Given the description of an element on the screen output the (x, y) to click on. 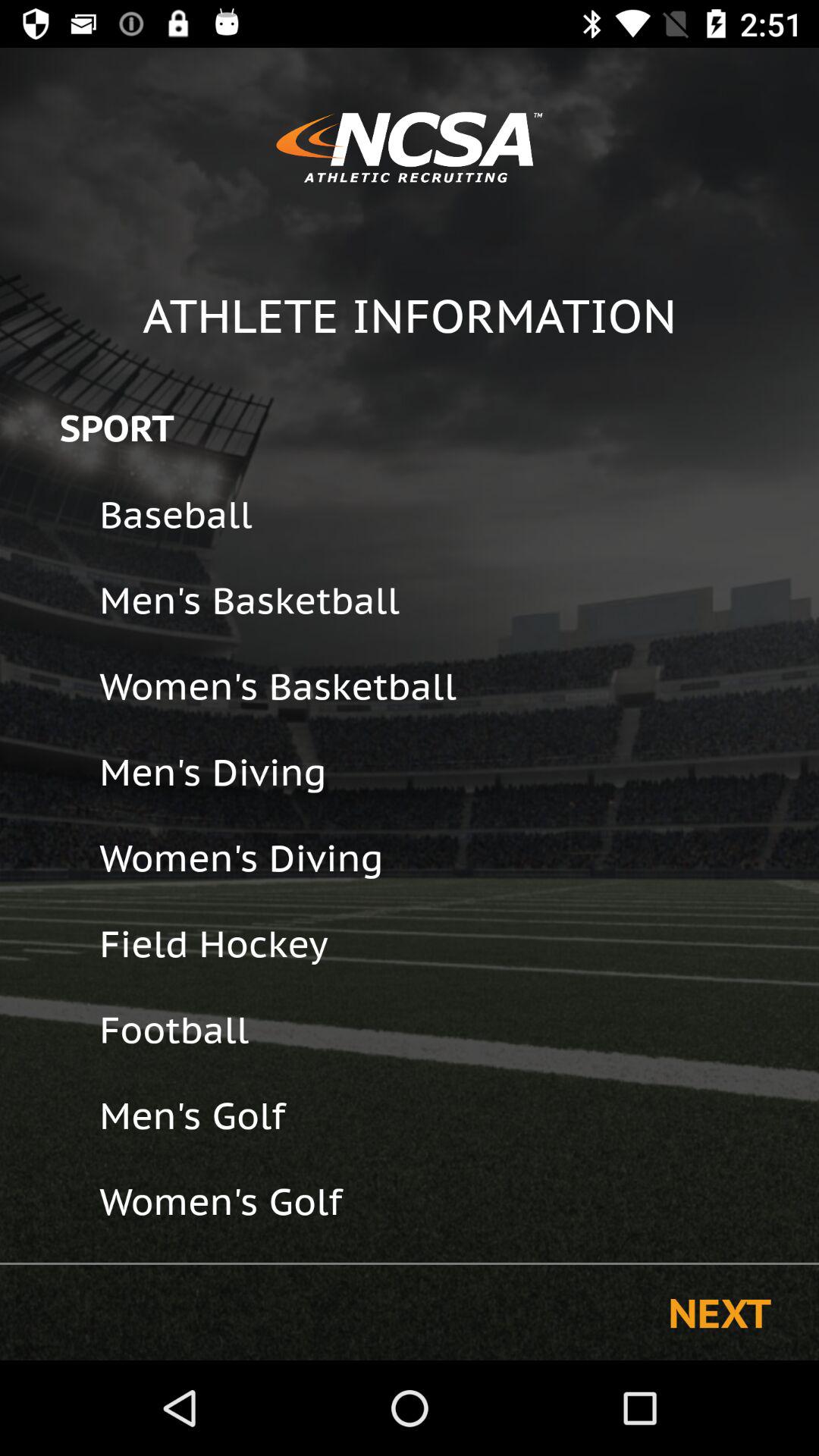
turn off the item below the sport (449, 514)
